Given the description of an element on the screen output the (x, y) to click on. 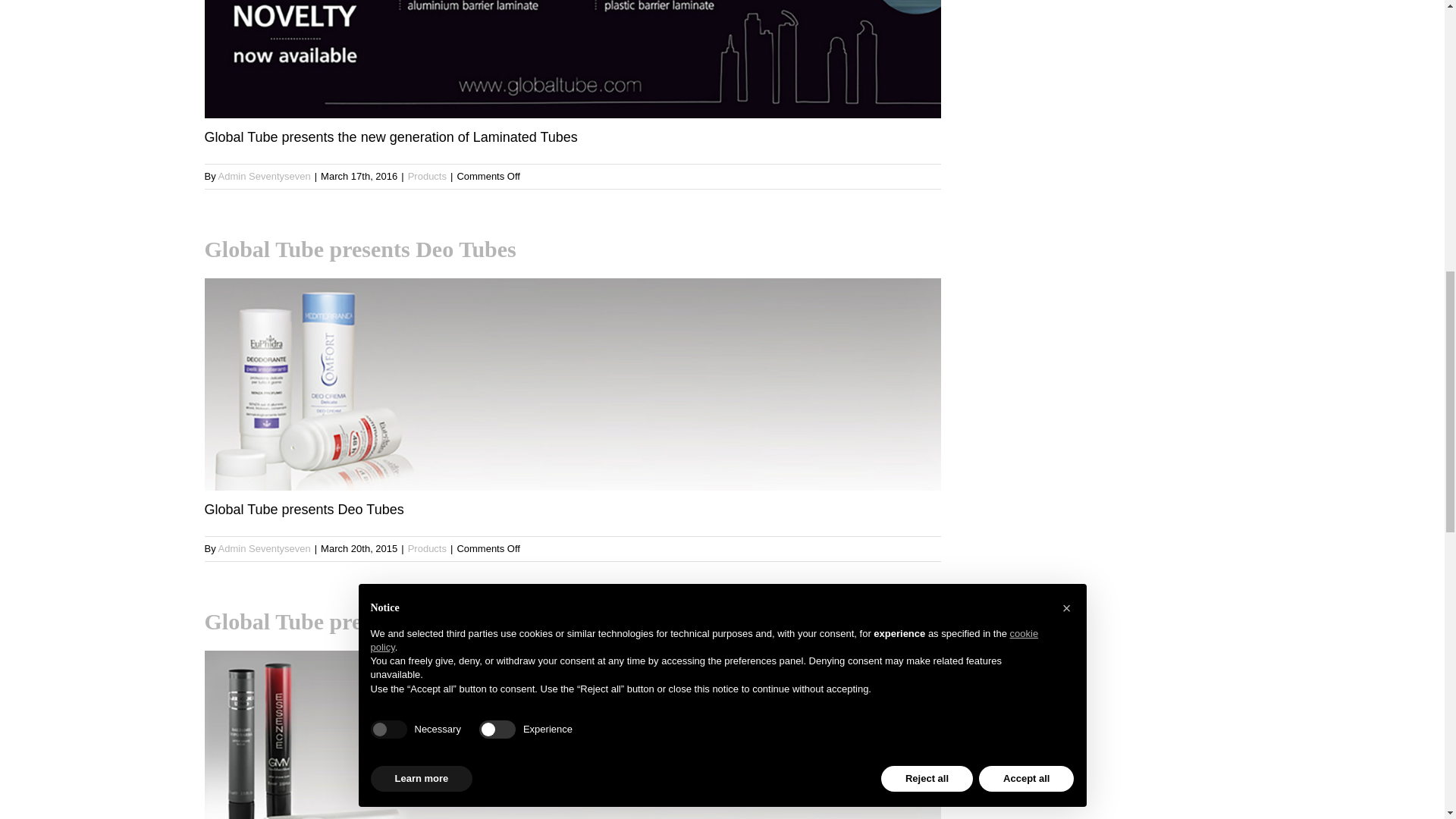
Posts by Admin Seventyseven (264, 175)
3 (573, 58)
2-1 (573, 734)
Posts by Admin Seventyseven (264, 548)
Global Tube presents Airless Tubes (573, 734)
Global Tube presents the new generation of Laminated Tubes (573, 74)
